Given the description of an element on the screen output the (x, y) to click on. 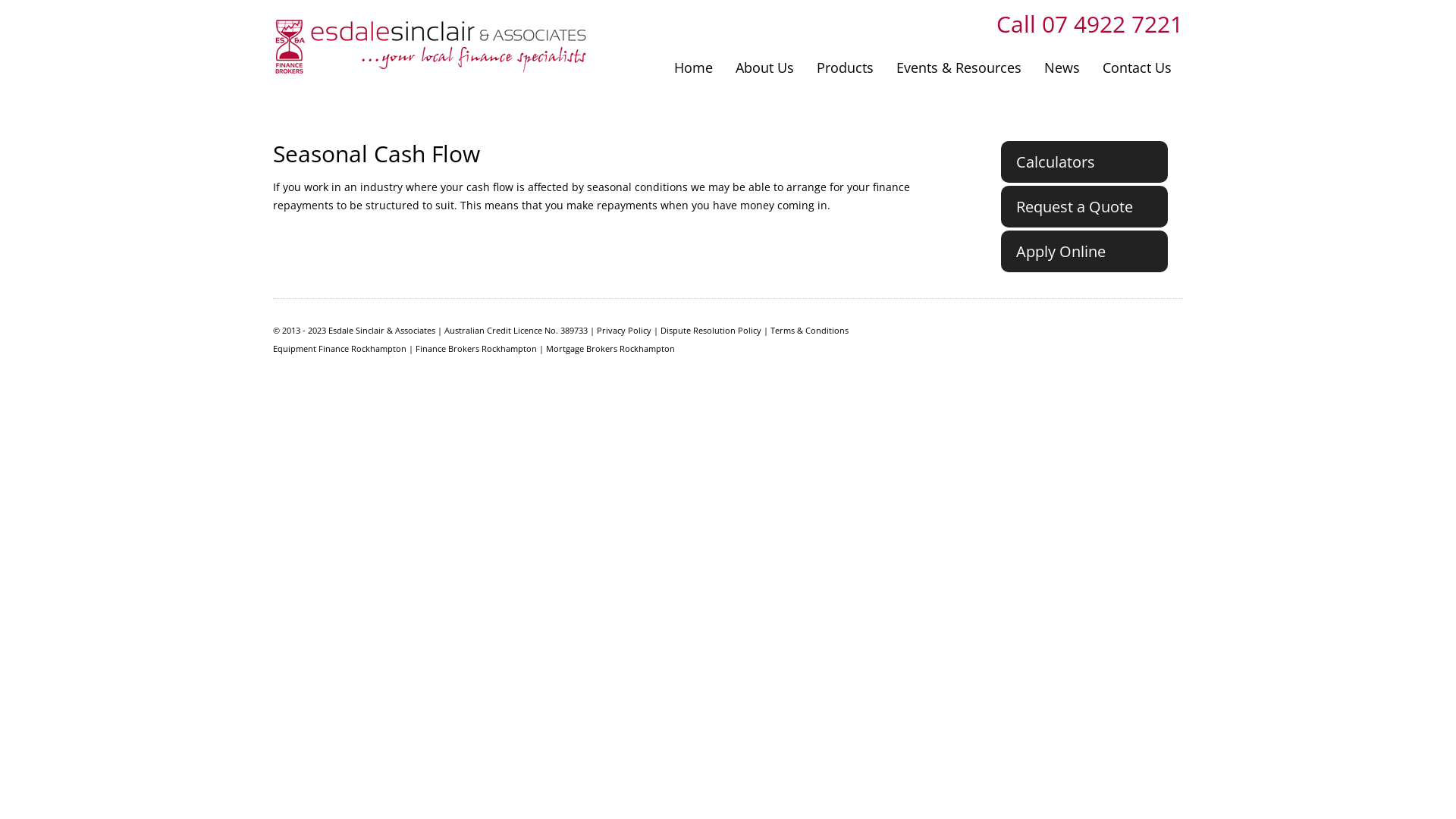
Equipment Finance Rockhampton Element type: text (339, 348)
Terms & Conditions Element type: text (809, 329)
Mortgage Brokers Rockhampton Element type: text (610, 348)
Request a Quote Element type: text (1084, 206)
Privacy Policy Element type: text (623, 329)
Calculators Element type: text (1084, 161)
Dispute Resolution Policy Element type: text (710, 329)
About Us Element type: text (764, 67)
News Element type: text (1061, 67)
Events & Resources Element type: text (958, 67)
Contact Us Element type: text (1137, 67)
Home Element type: text (693, 67)
Products Element type: text (844, 67)
Apply Online Element type: text (1084, 251)
Finance Brokers Rockhampton Element type: text (475, 348)
